Given the description of an element on the screen output the (x, y) to click on. 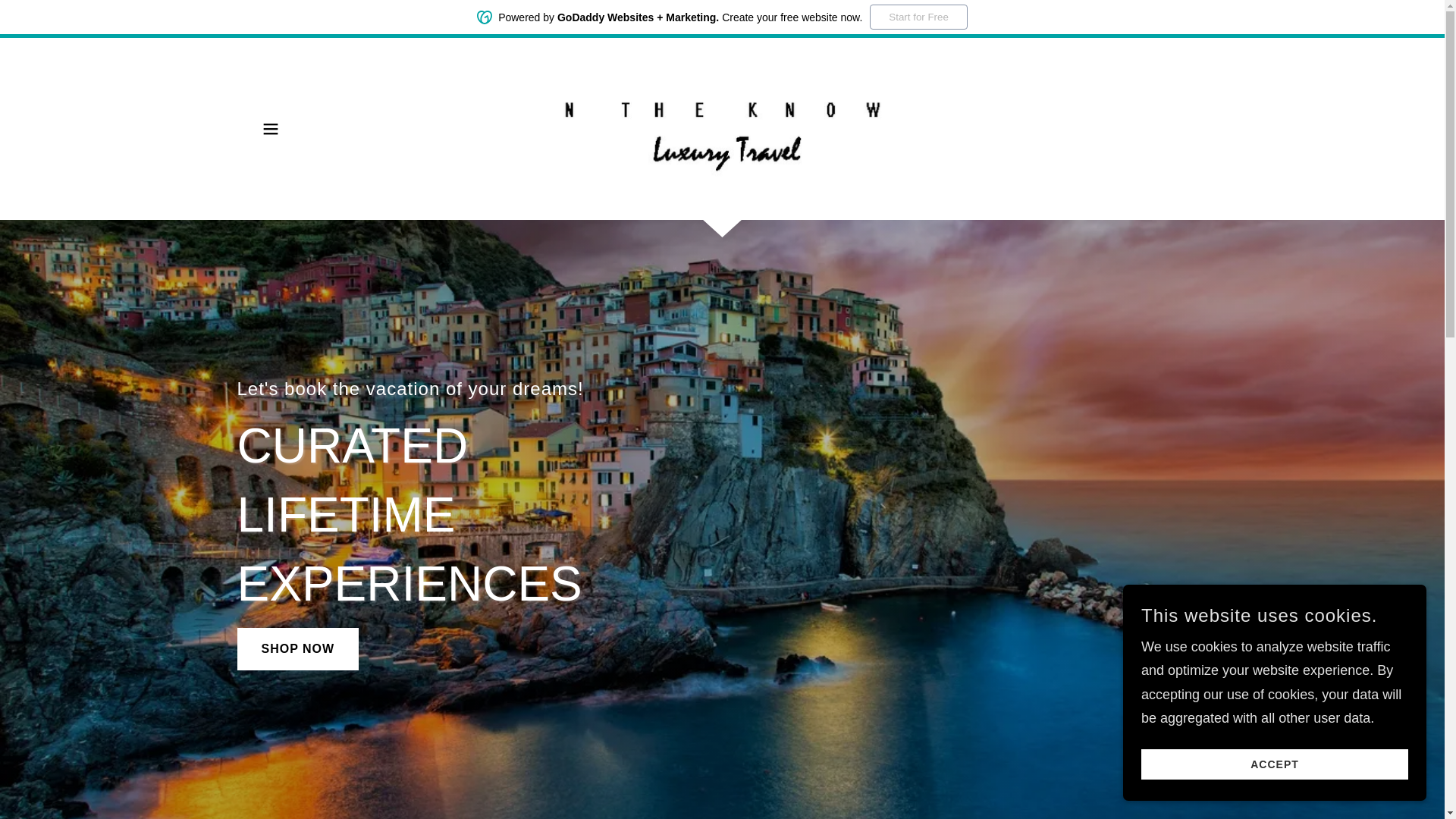
N The Know Luxury Travel (721, 127)
ACCEPT (1274, 764)
SHOP NOW (296, 649)
